Given the description of an element on the screen output the (x, y) to click on. 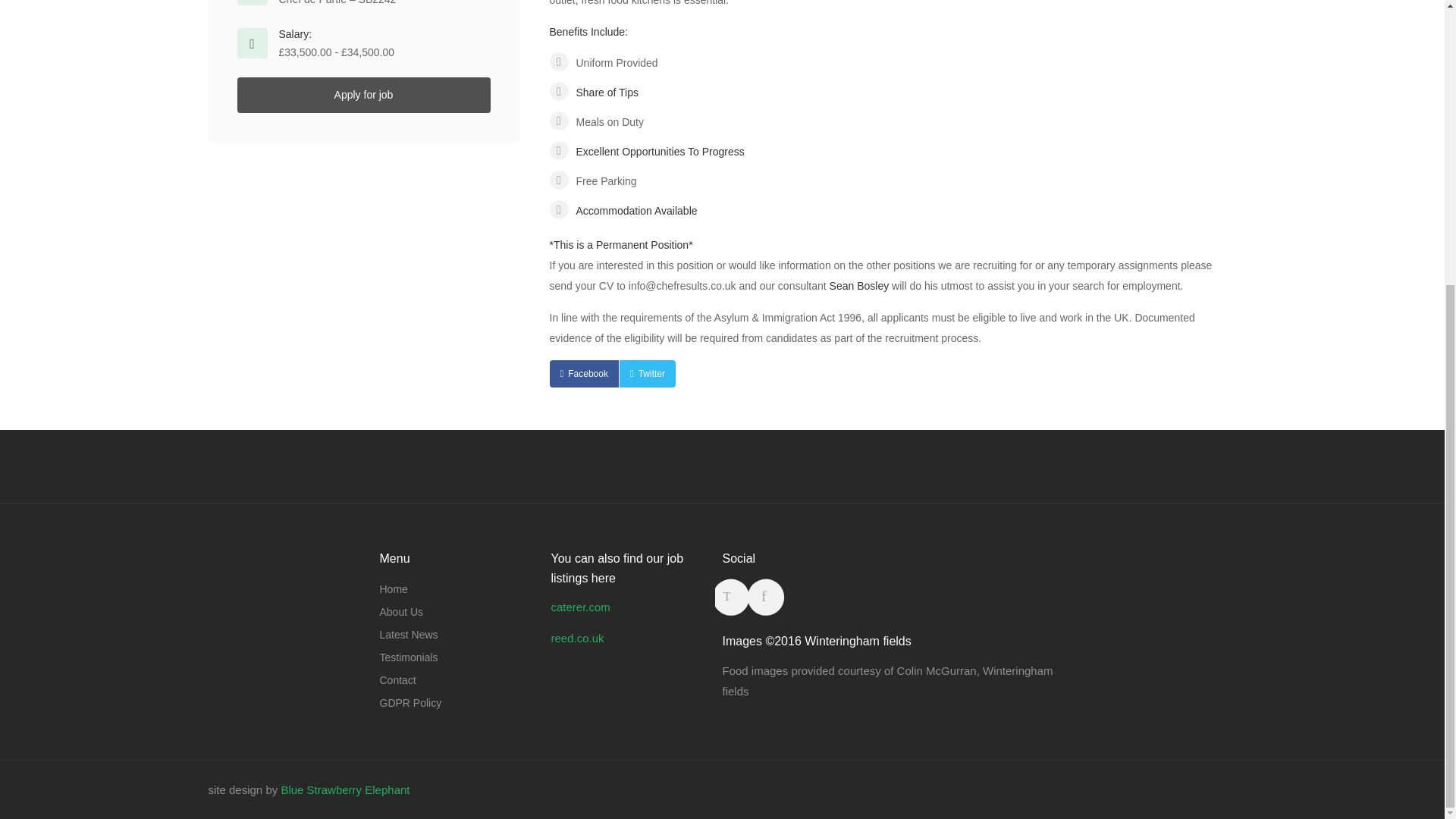
Testimonials (408, 657)
Facebook (582, 373)
Latest News (408, 634)
caterer.com (580, 606)
Twitter (647, 373)
Home (392, 588)
Apply for job (362, 94)
Twitter (647, 373)
Contact (396, 680)
GDPR Policy (409, 702)
Blue Strawberry Elephant (345, 789)
About Us (400, 611)
reed.co.uk (577, 637)
